Given the description of an element on the screen output the (x, y) to click on. 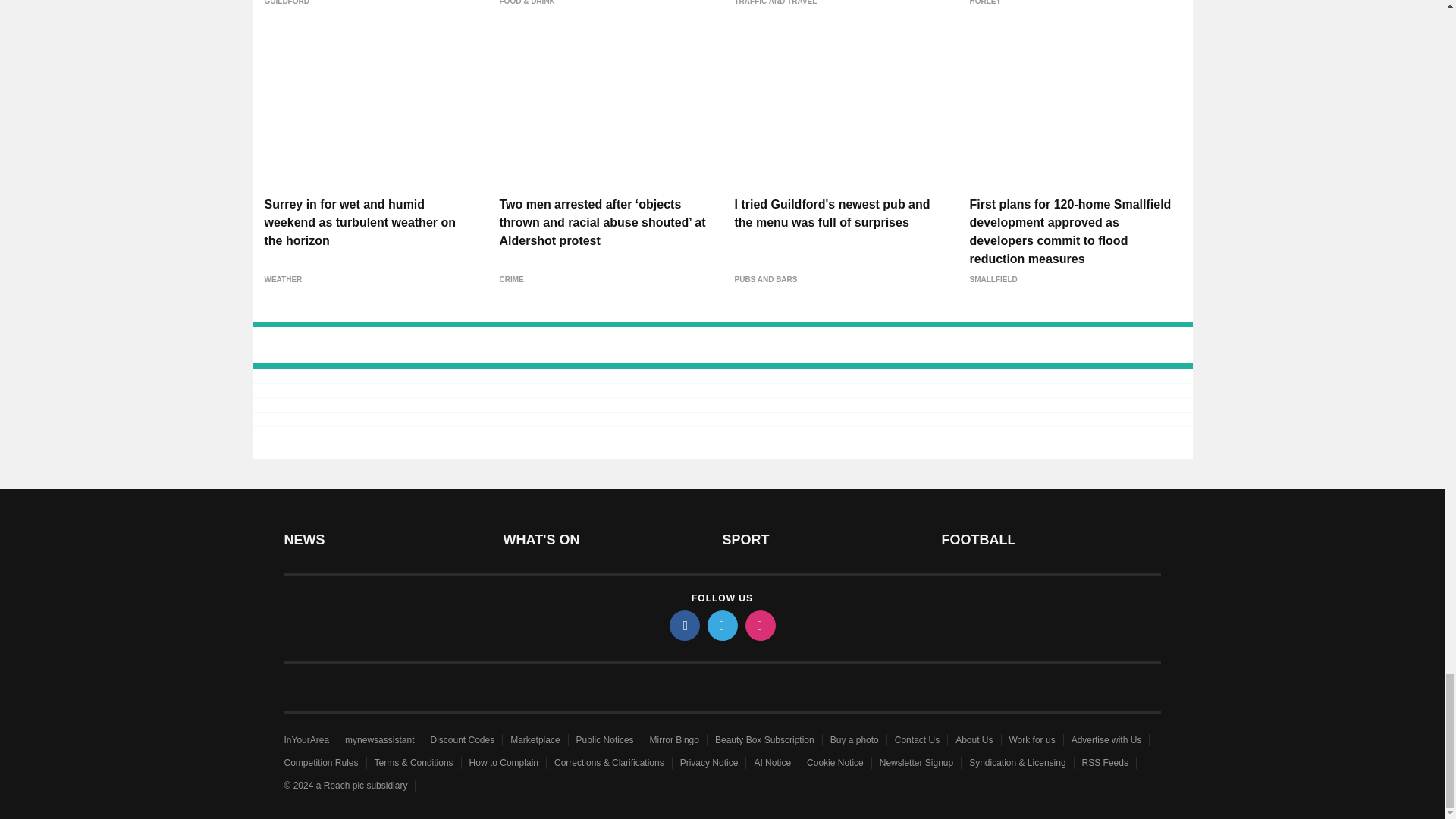
facebook (683, 625)
twitter (721, 625)
instagram (759, 625)
